Given the description of an element on the screen output the (x, y) to click on. 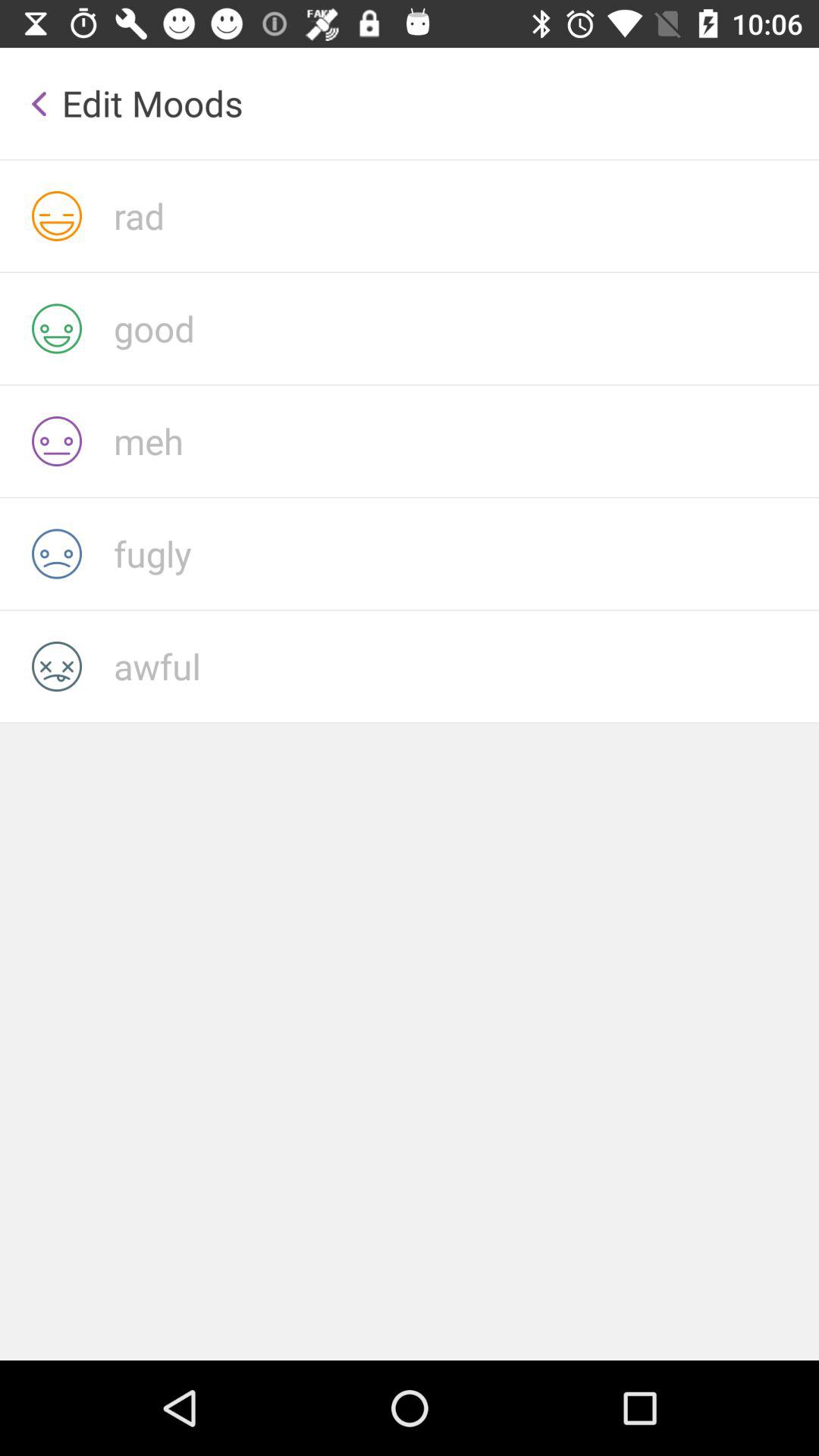
awful (466, 666)
